Given the description of an element on the screen output the (x, y) to click on. 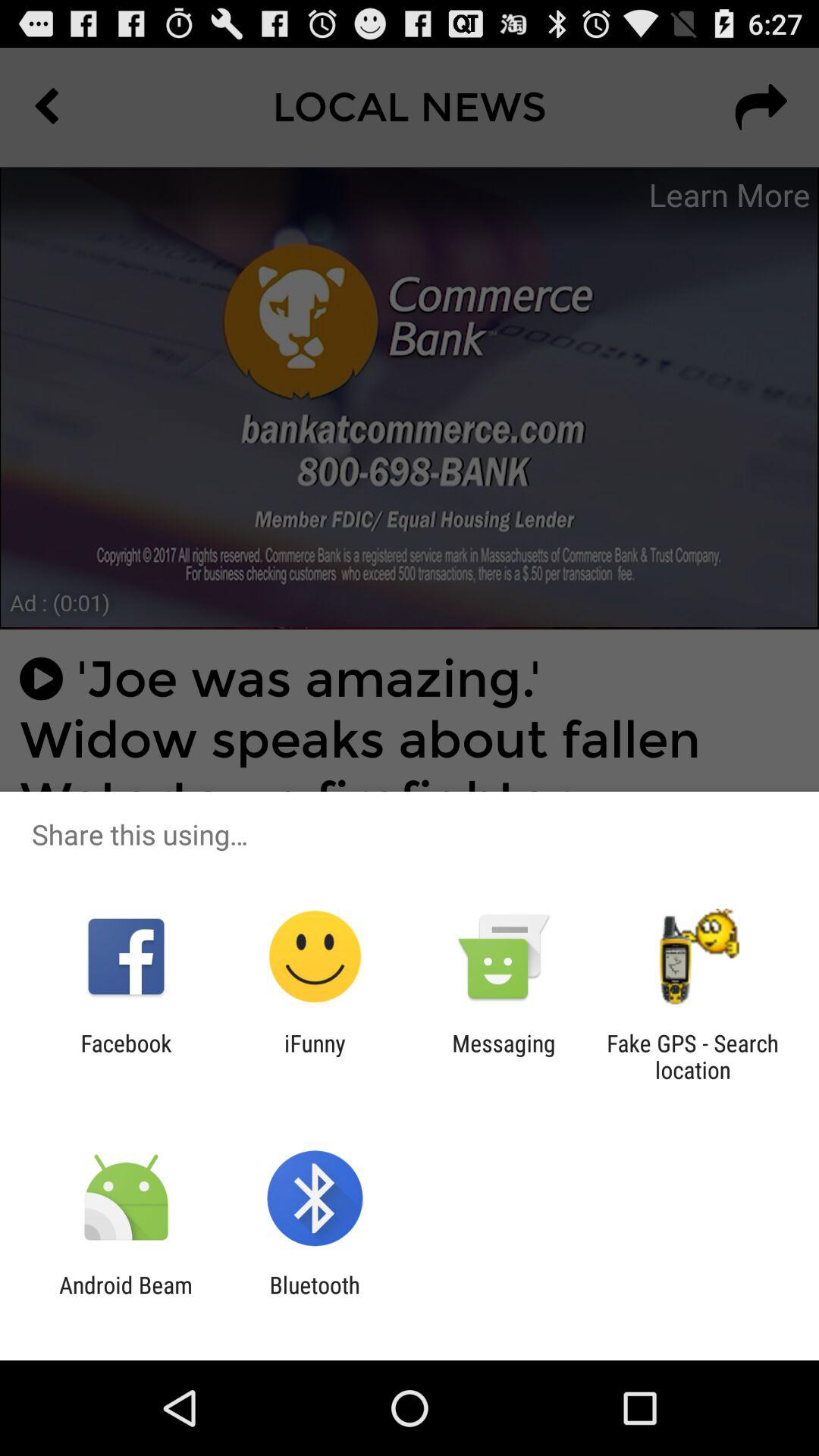
click the app next to facebook icon (314, 1056)
